Given the description of an element on the screen output the (x, y) to click on. 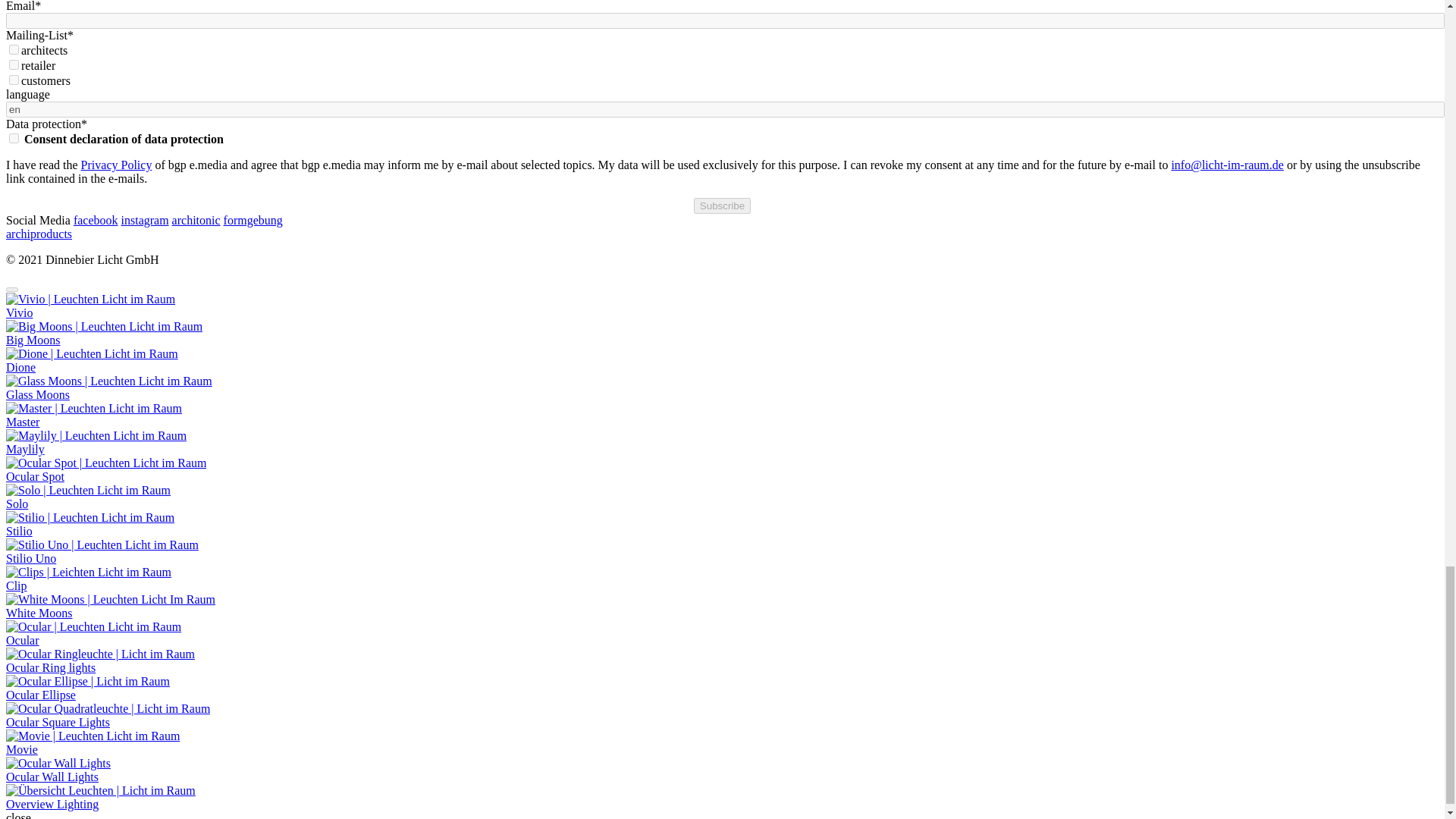
customers (13, 80)
Yes, i accept the data protection (13, 138)
architects (13, 49)
retailer (13, 64)
